Given the description of an element on the screen output the (x, y) to click on. 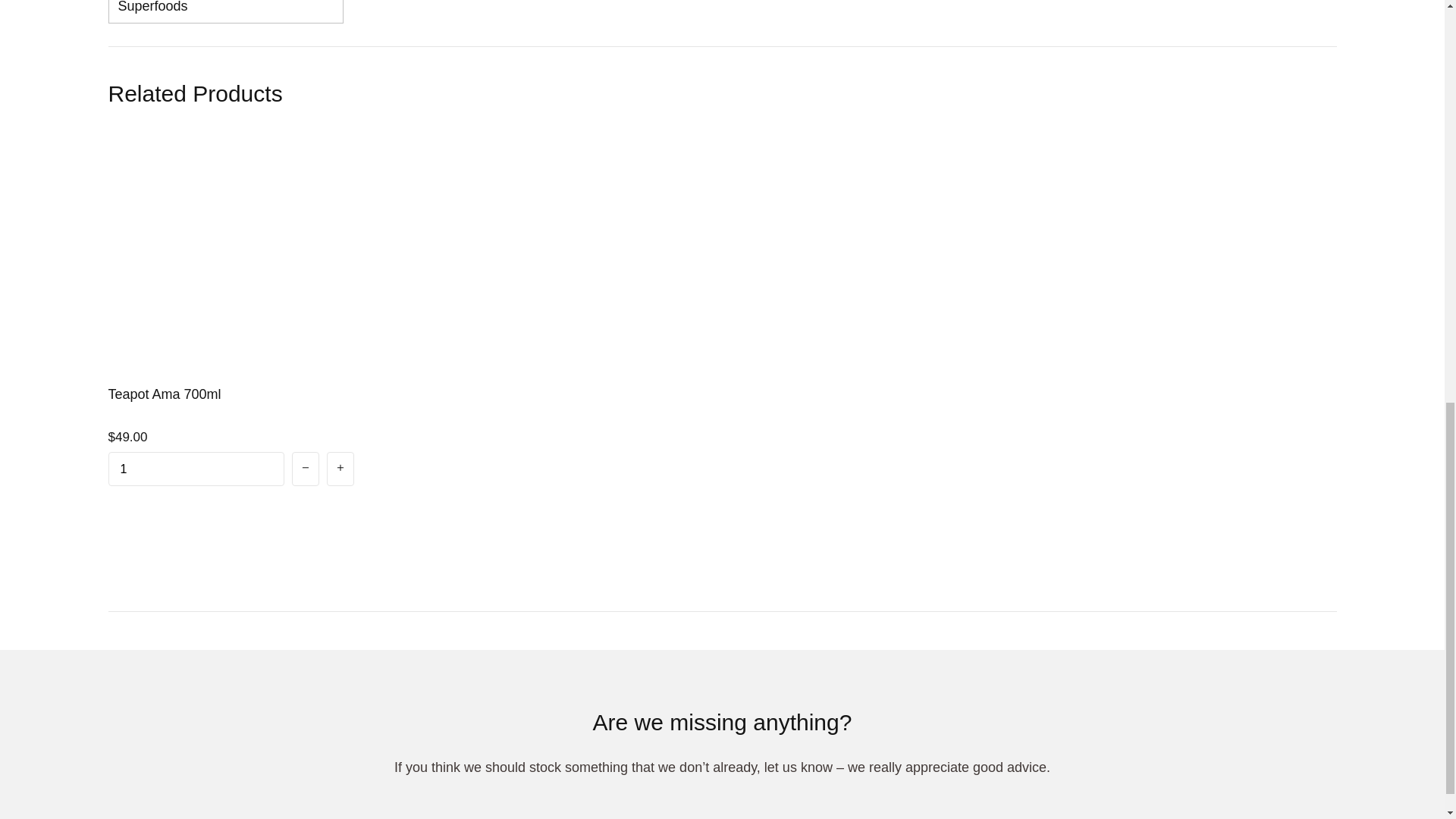
1 (195, 469)
